Given the description of an element on the screen output the (x, y) to click on. 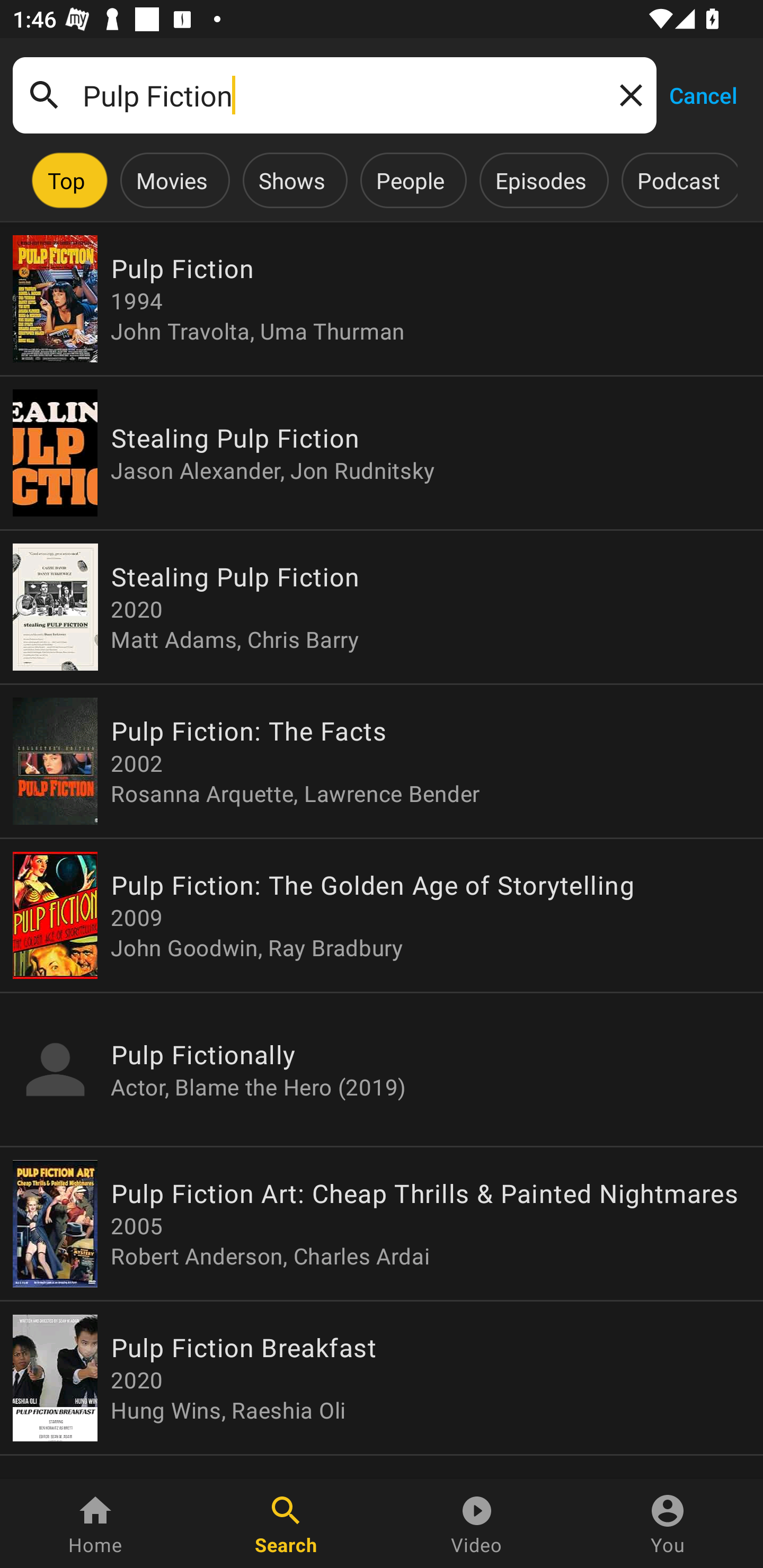
Clear query (627, 94)
Cancel (703, 94)
Pulp Fiction (334, 95)
Top (66, 180)
Movies (171, 180)
Shows (291, 180)
People (410, 180)
Episodes (540, 180)
Podcast (678, 180)
Pulp Fiction 1994 John Travolta, Uma Thurman (381, 298)
Stealing Pulp Fiction 2020 Matt Adams, Chris Barry (381, 607)
Pulp Fictionally Actor, Blame the Hero (2019) (381, 1069)
Pulp Fiction Breakfast 2020 Hung Wins, Raeshia Oli (381, 1377)
Home (95, 1523)
Video (476, 1523)
You (667, 1523)
